Given the description of an element on the screen output the (x, y) to click on. 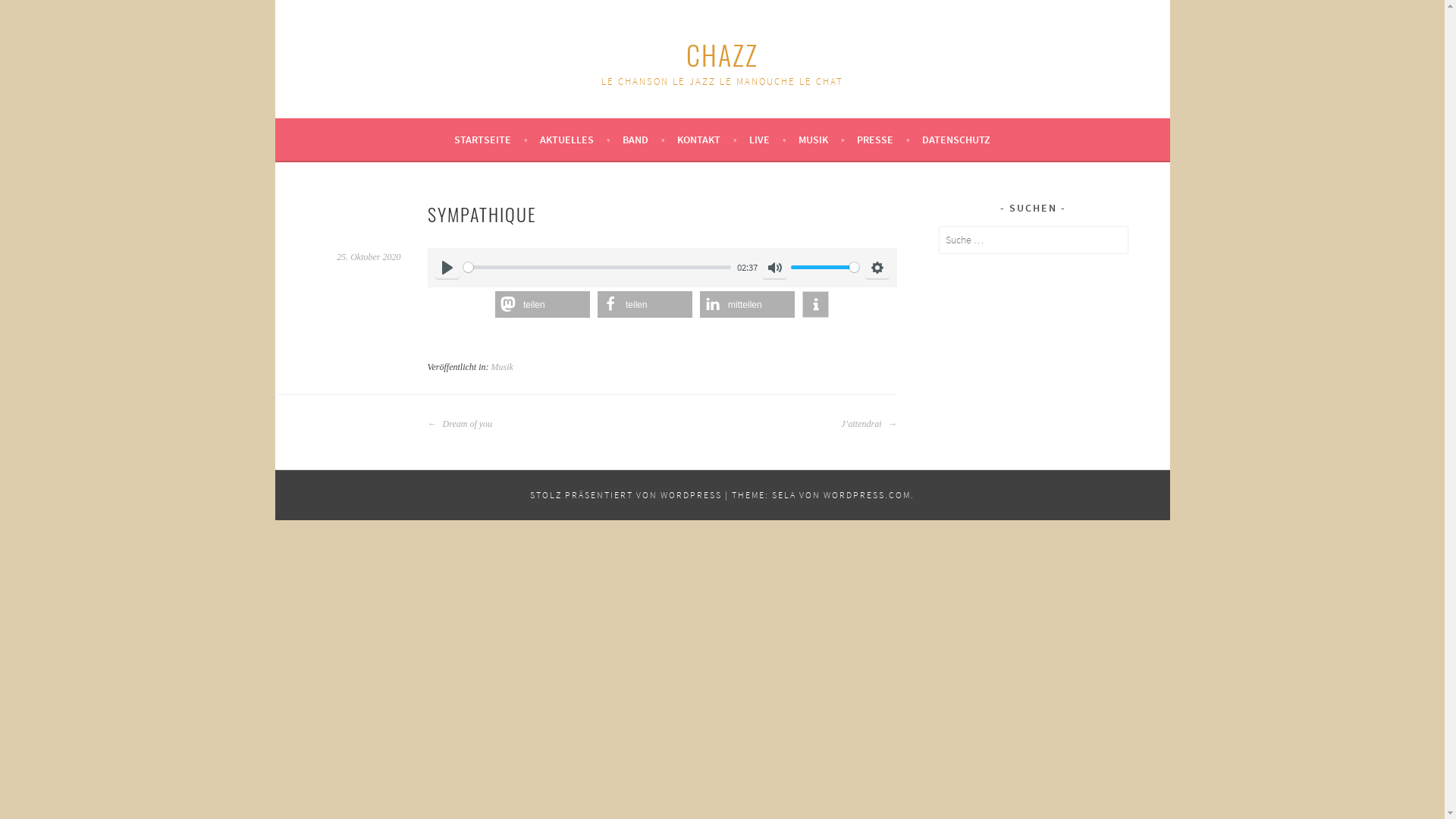
 Dream of you Element type: text (459, 423)
BAND Element type: text (643, 139)
STARTSEITE Element type: text (490, 139)
Musik Element type: text (501, 366)
SETTINGS Element type: text (876, 267)
mitteilen  Element type: text (746, 304)
KONTAKT Element type: text (707, 139)
MUSIK Element type: text (821, 139)
teilen  Element type: text (542, 304)
PRESSE Element type: text (883, 139)
Weitere Informationen Element type: hover (815, 304)
MUTE Element type: text (774, 267)
PLAY Element type: text (447, 267)
25. Oktober 2020 Element type: text (368, 256)
LIVE Element type: text (767, 139)
CHAZZ Element type: text (722, 54)
DATENSCHUTZ Element type: text (956, 139)
AKTUELLES Element type: text (574, 139)
teilen  Element type: text (644, 304)
WORDPRESS.COM Element type: text (866, 494)
Suche Element type: text (25, 13)
